Given the description of an element on the screen output the (x, y) to click on. 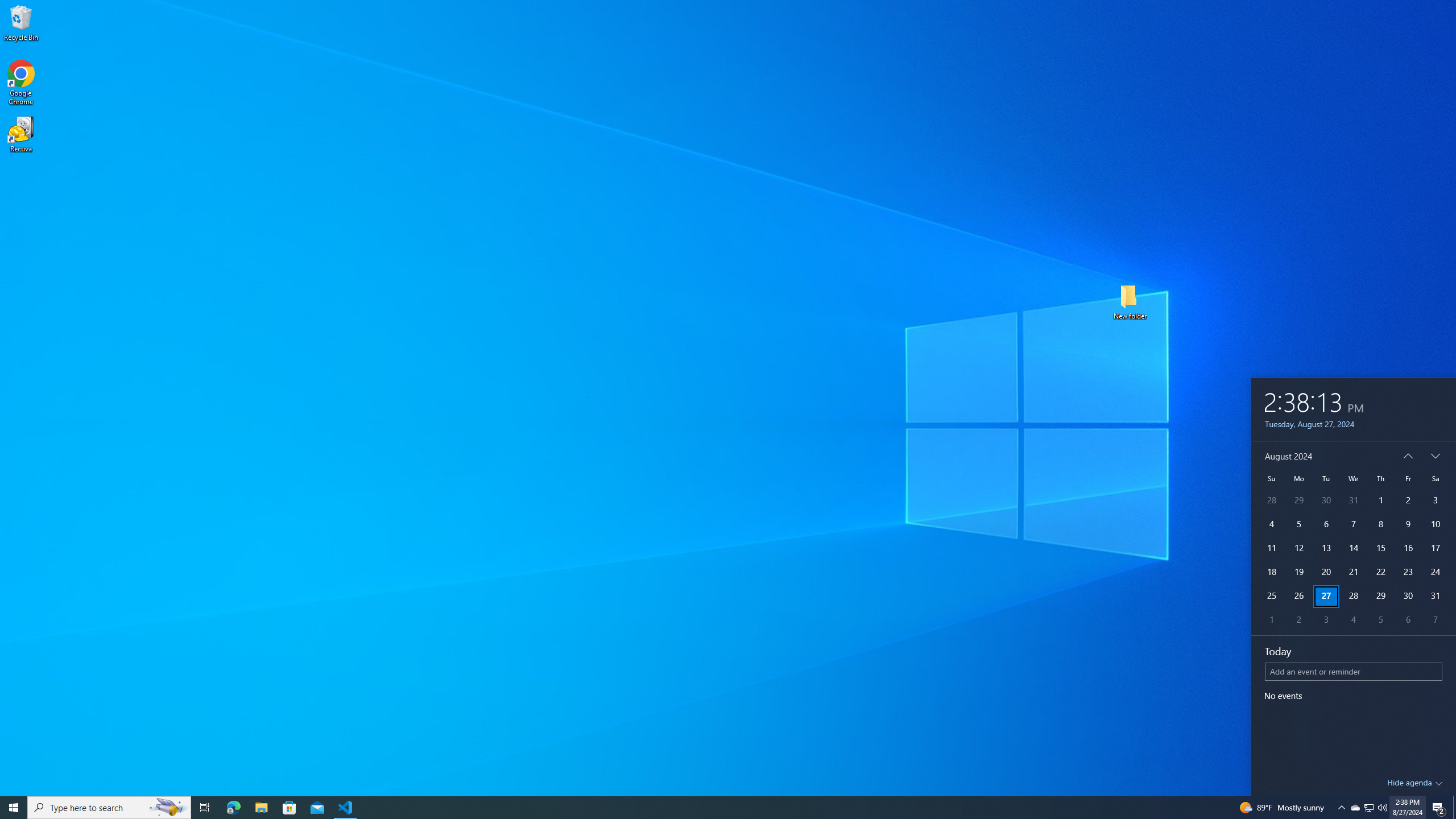
26 (1298, 596)
Running applications (717, 807)
4 (1353, 620)
9 (1407, 524)
Notification Chevron (1341, 807)
29 (1380, 596)
Visual Studio Code - 1 running window (345, 807)
25 (1270, 596)
Next (1435, 455)
24 (1435, 572)
28 (1353, 596)
16 (1407, 548)
Show desktop (1454, 807)
Q2790: 100% (1382, 807)
